Given the description of an element on the screen output the (x, y) to click on. 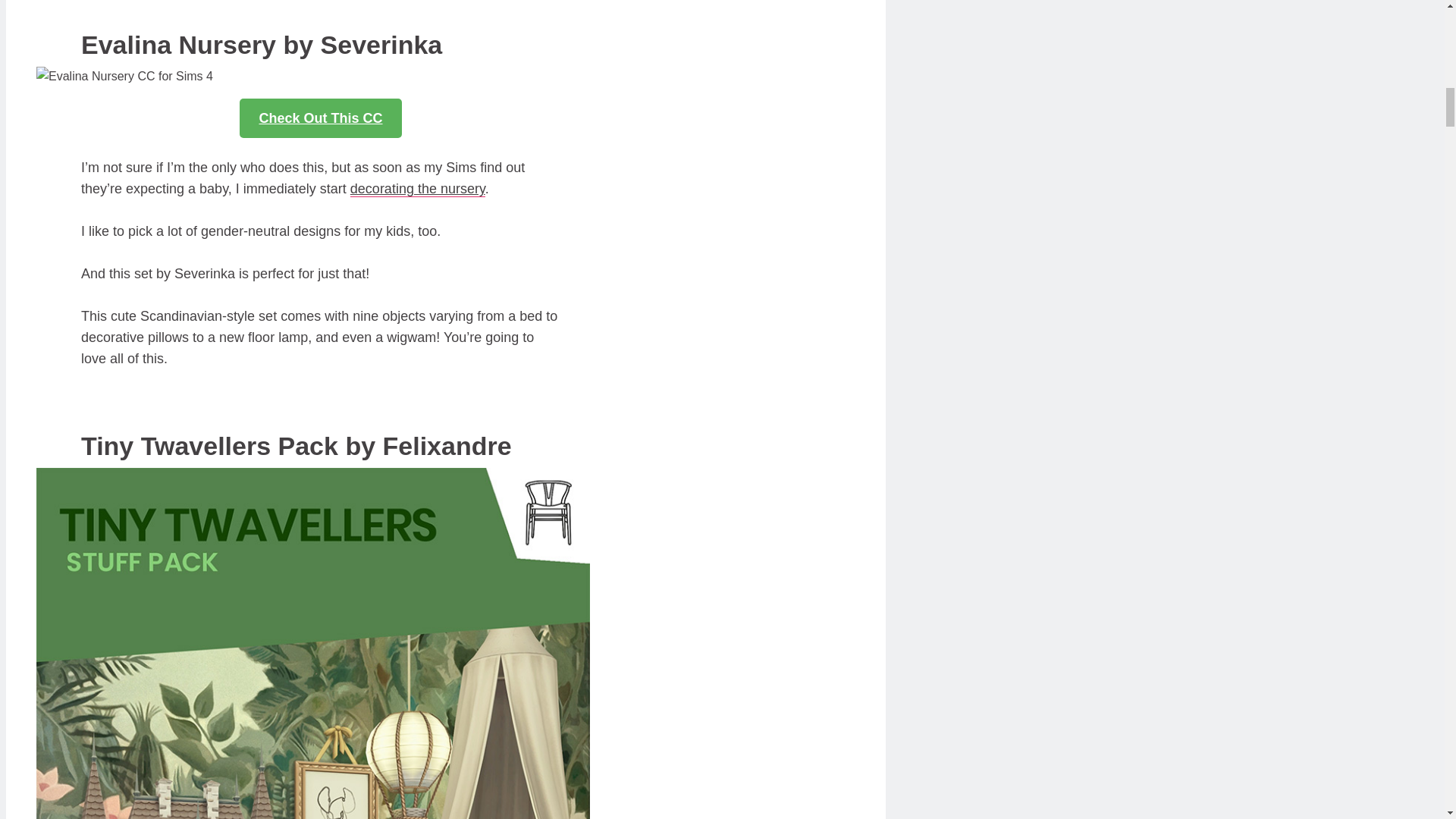
decorating the nursery (417, 188)
Check Out This CC (320, 118)
